Given the description of an element on the screen output the (x, y) to click on. 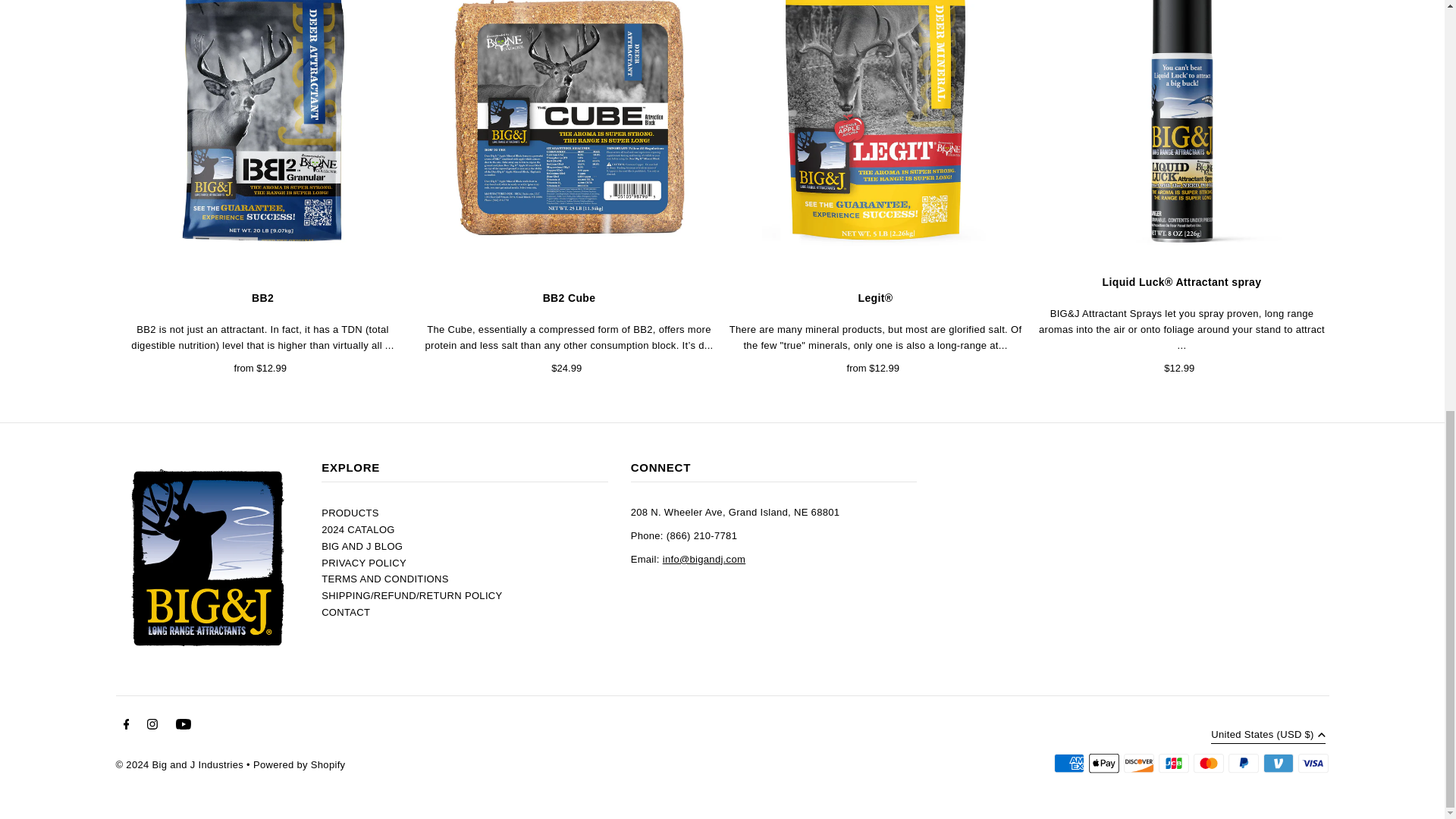
Venmo (1278, 763)
BB2 Cube (569, 132)
JCB (1173, 763)
Mastercard (1208, 763)
Discover (1139, 763)
PayPal (1243, 763)
Visa (1312, 763)
Apple Pay (1104, 763)
American Express (1069, 763)
BB2 (262, 132)
